Given the description of an element on the screen output the (x, y) to click on. 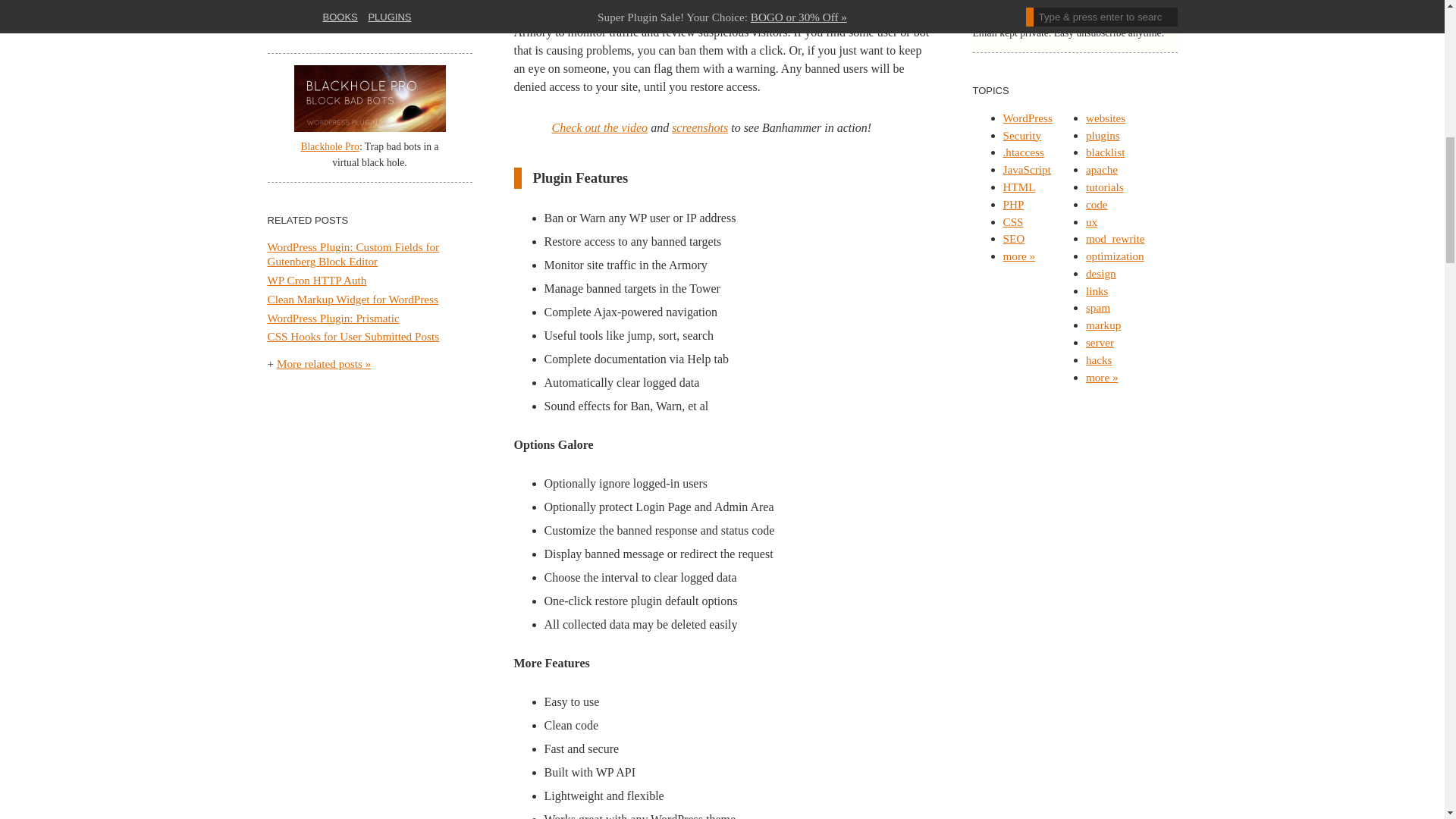
screenshots (699, 127)
Check out the video (599, 127)
Subscribe (1139, 7)
screenshots (699, 127)
